Given the description of an element on the screen output the (x, y) to click on. 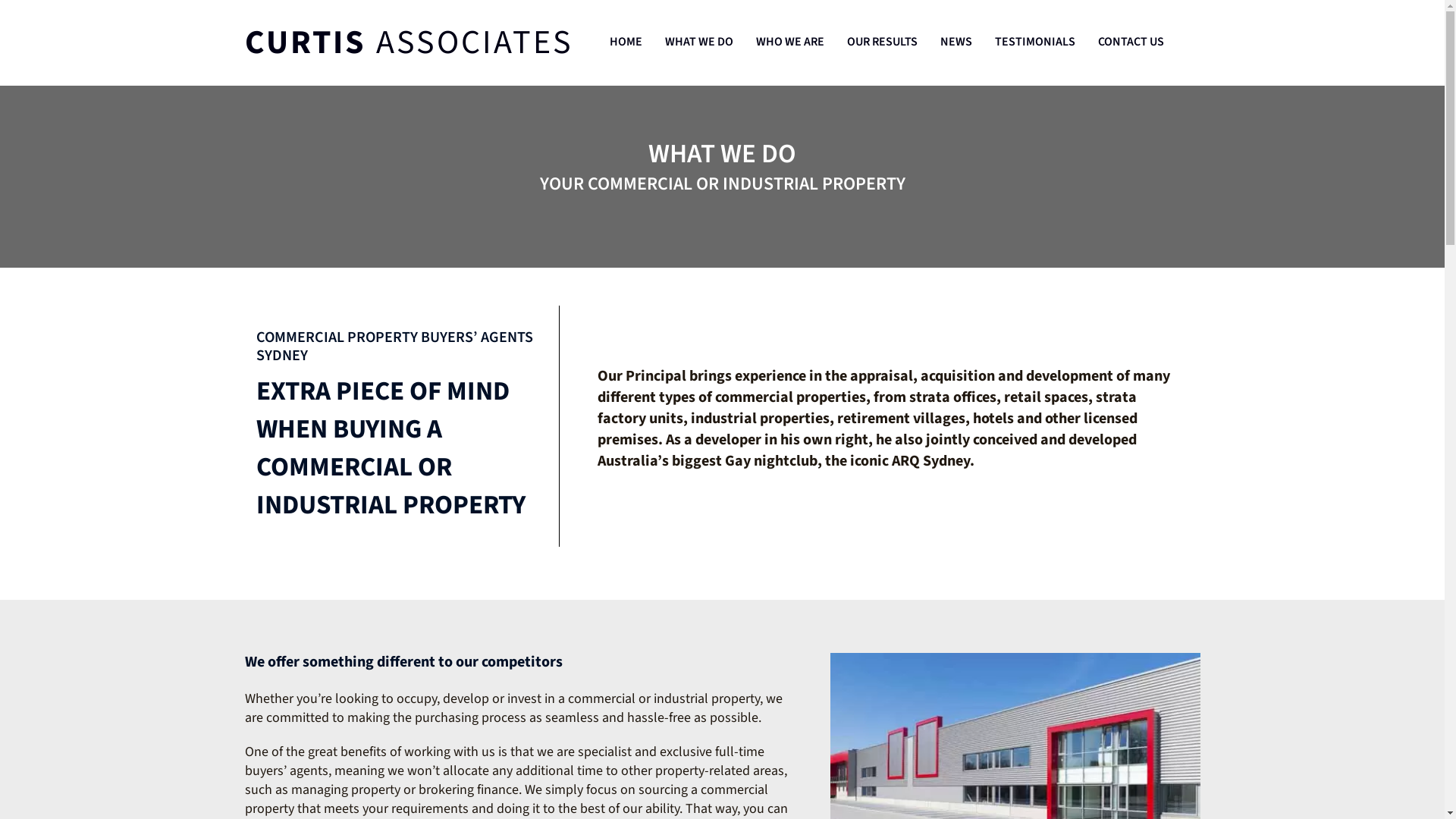
HOME Element type: text (625, 43)
OUR RESULTS Element type: text (881, 43)
WHO WE ARE Element type: text (789, 43)
WHAT WE DO Element type: text (698, 43)
CURTIS ASSOCIATES Element type: text (408, 42)
NEWS Element type: text (956, 43)
TESTIMONIALS Element type: text (1034, 43)
CONTACT US Element type: text (1131, 43)
